Given the description of an element on the screen output the (x, y) to click on. 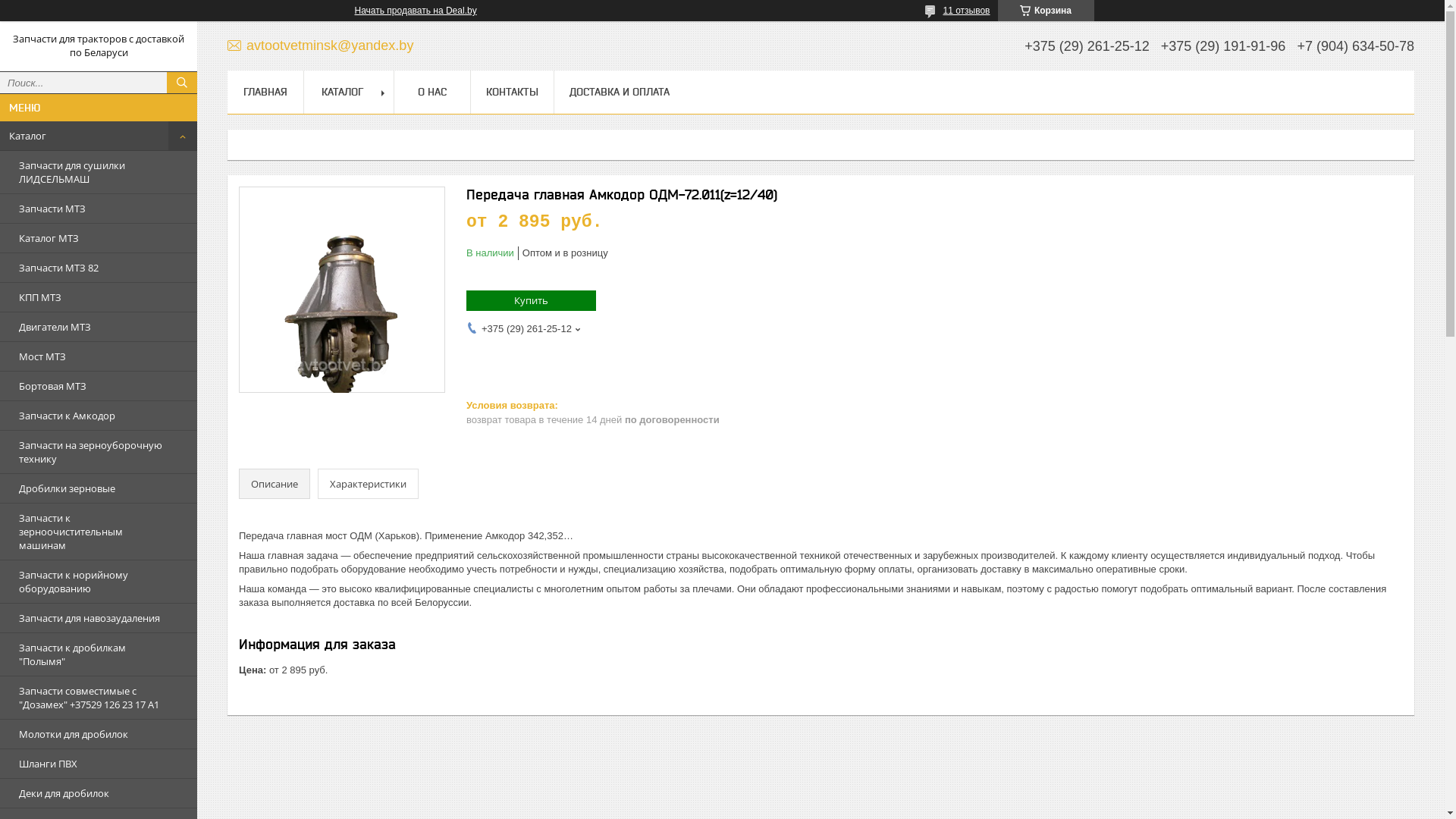
avtootvetminsk@yandex.by Element type: text (320, 45)
